Given the description of an element on the screen output the (x, y) to click on. 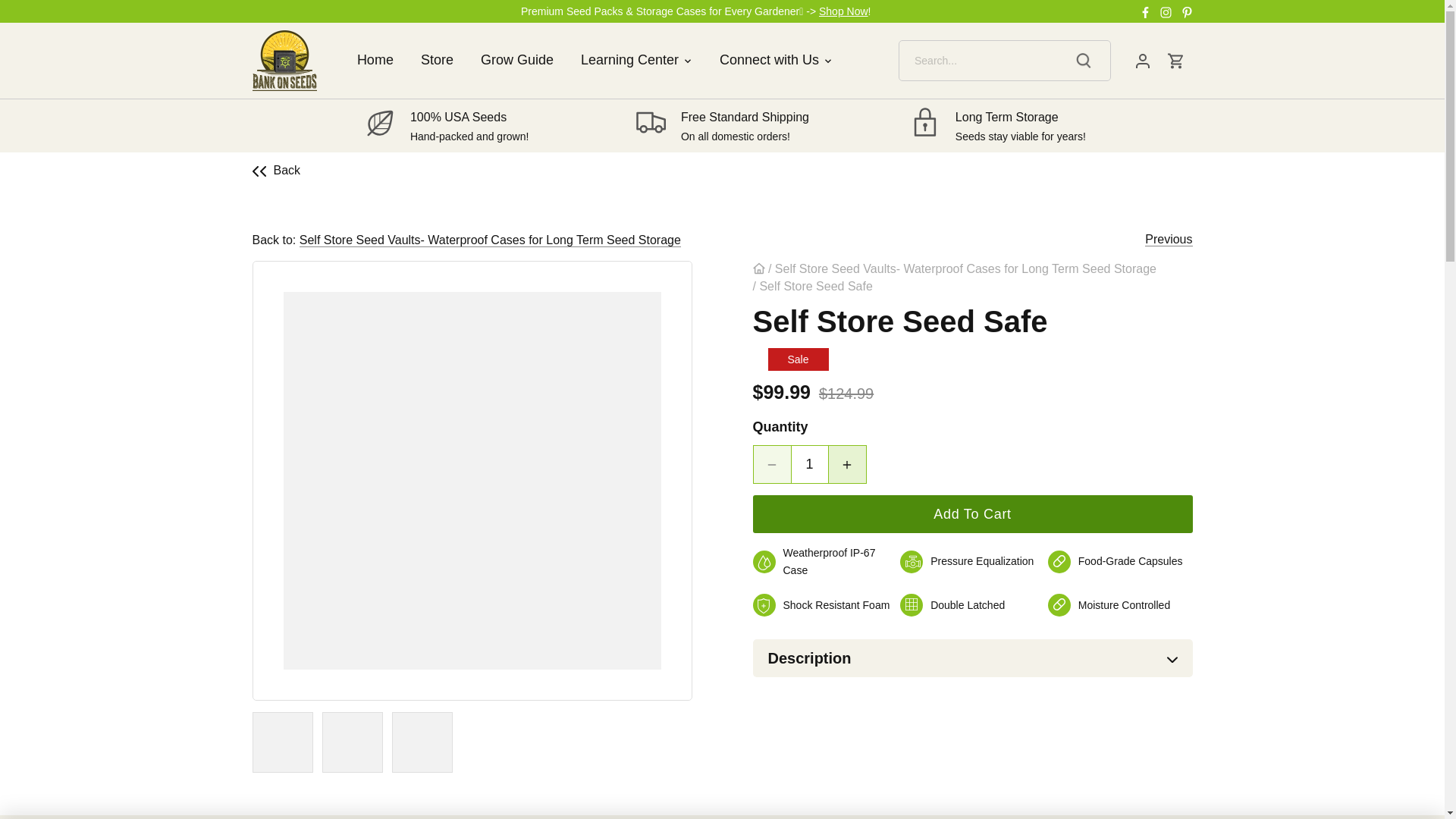
Back (275, 169)
Home (381, 59)
Shop Now (842, 10)
Store (437, 59)
Connect with Us (769, 59)
1 (809, 464)
Learning Center (630, 59)
Grow Guide (517, 59)
